Given the description of an element on the screen output the (x, y) to click on. 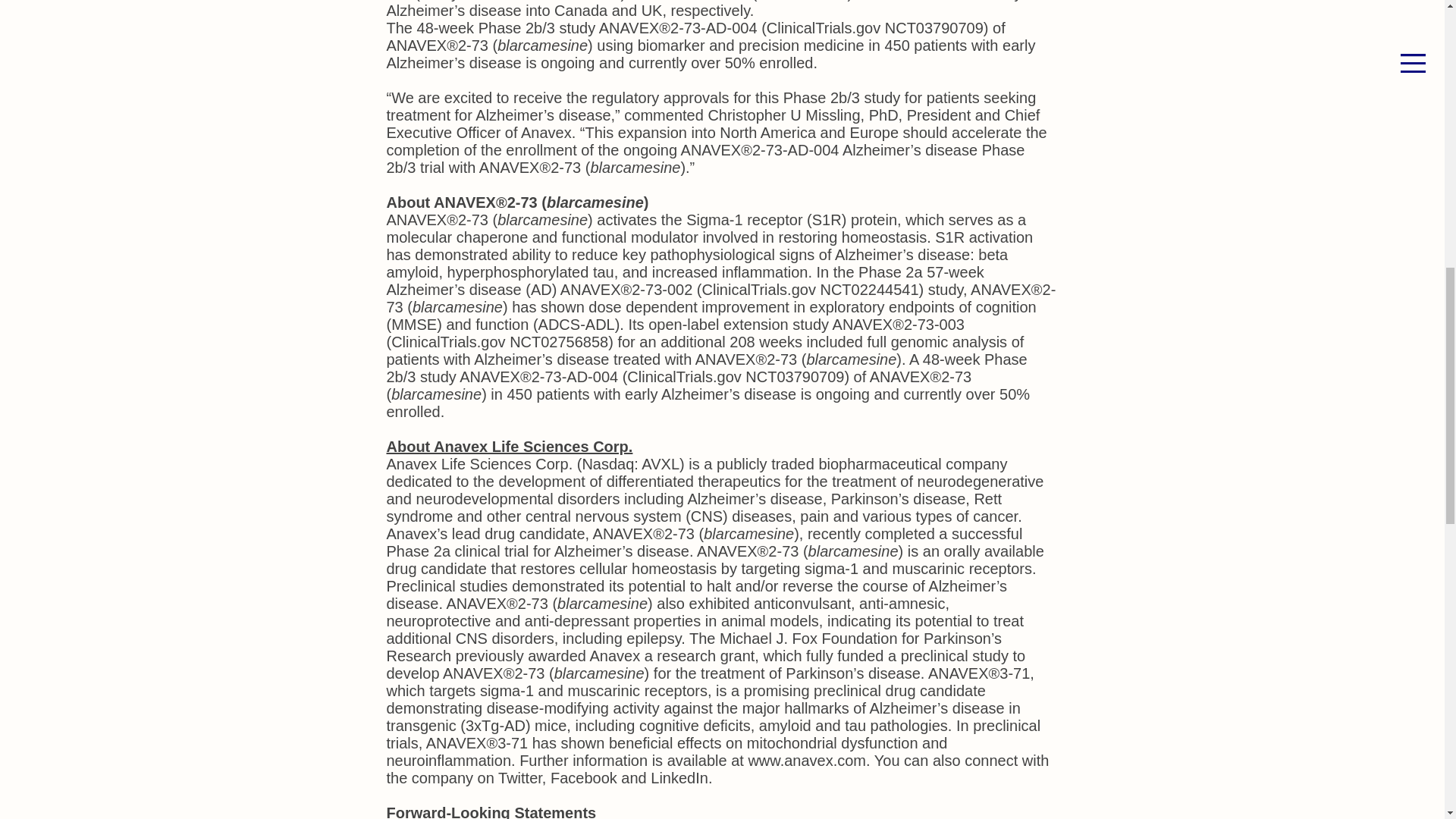
www.anavex.com (807, 760)
LinkedIn (678, 777)
Facebook (583, 777)
Twitter, (521, 777)
